Given the description of an element on the screen output the (x, y) to click on. 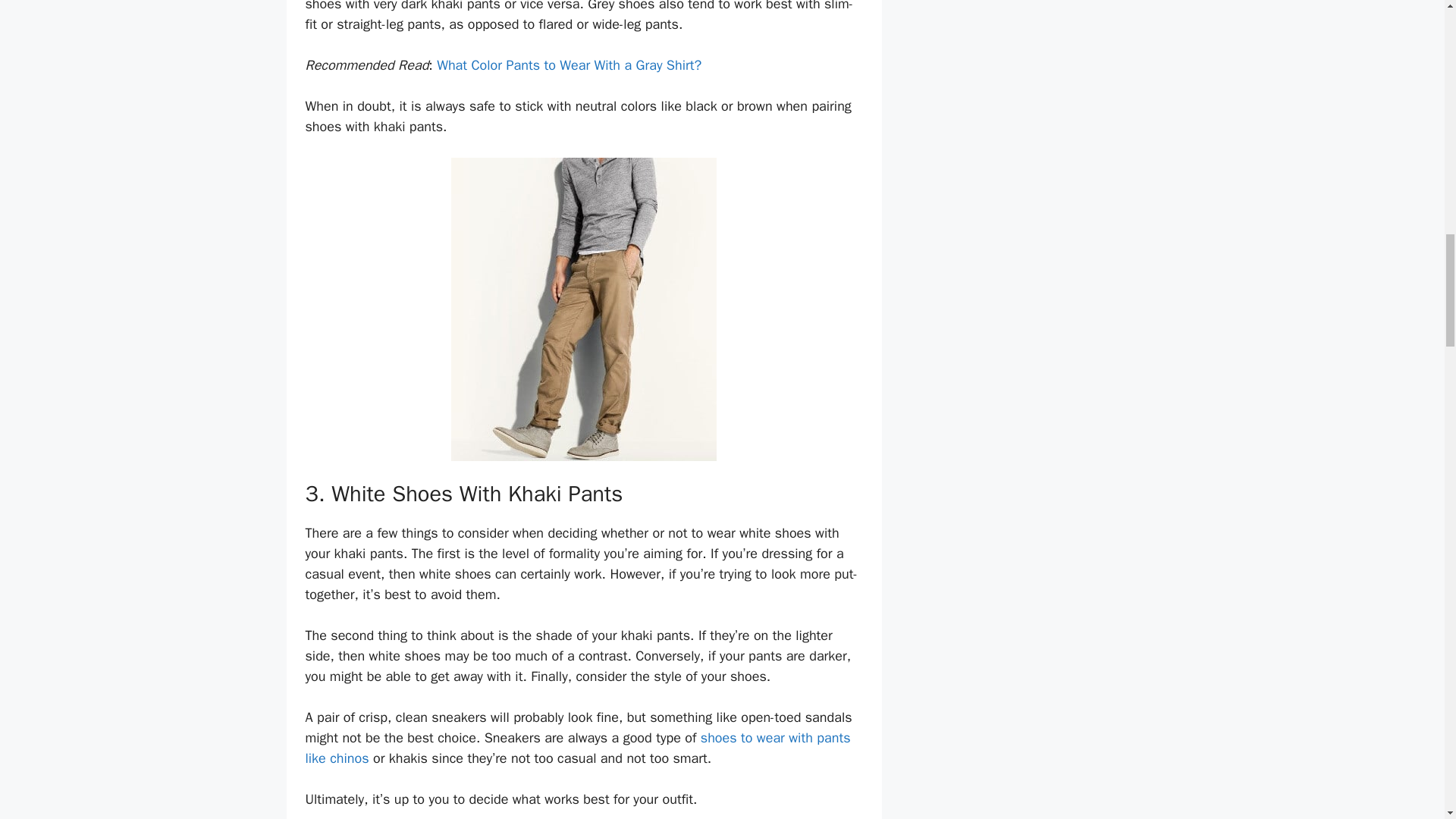
What Color Pants to Wear With a Gray Shirt? (568, 64)
shoes to wear with pants like chinos (577, 747)
